Given the description of an element on the screen output the (x, y) to click on. 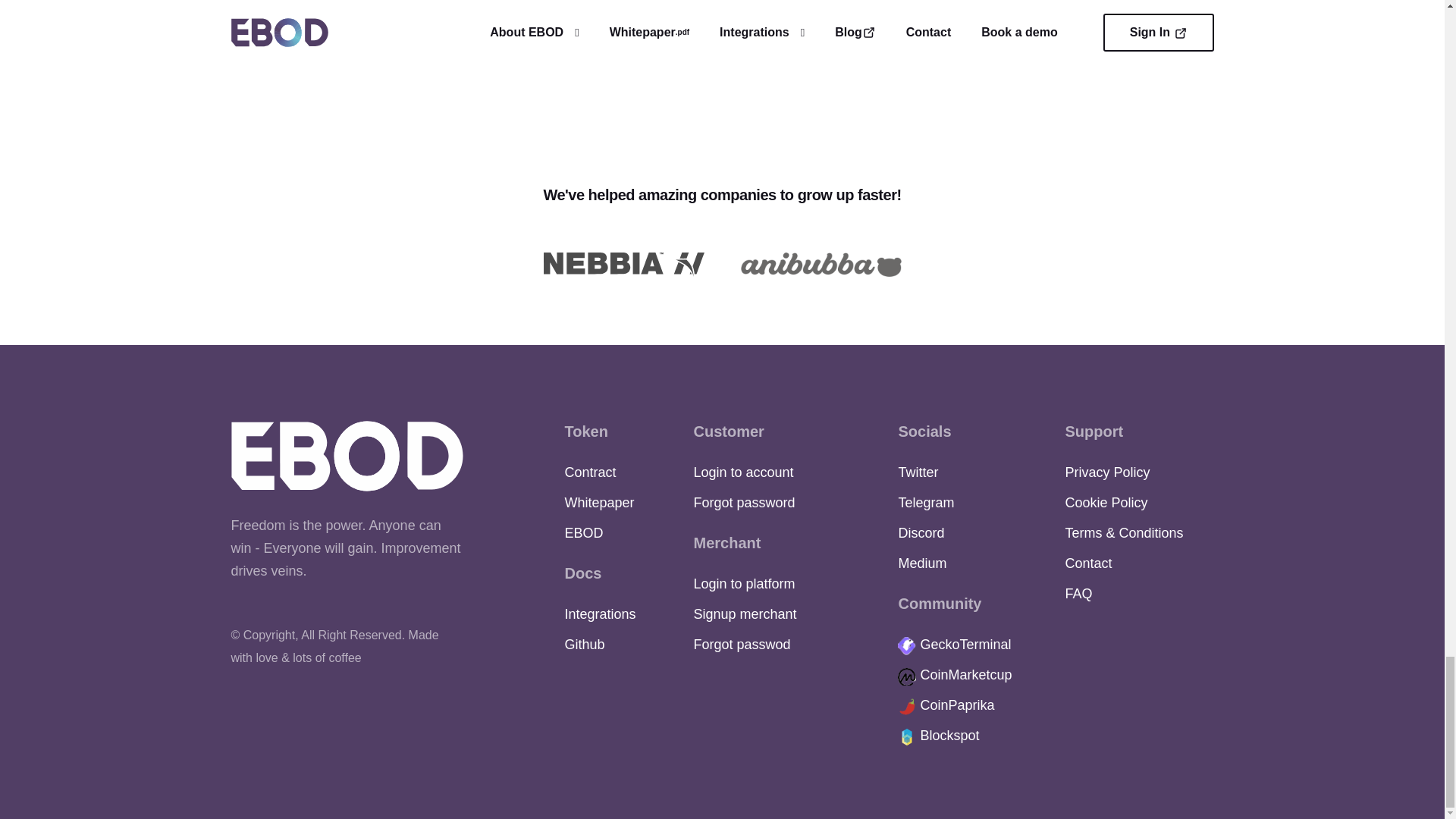
Forgot passwod (741, 644)
EBOD (583, 532)
Contract (589, 472)
Whitepaper (598, 502)
Medium (922, 563)
Telegram (925, 502)
CoinMarketcup (954, 674)
Login to platform (743, 583)
Twitter (917, 472)
Github (584, 644)
GeckoTerminal (954, 644)
Forgot password (743, 502)
CoinPaprika (946, 704)
Blockspot (938, 735)
Login to account (743, 472)
